Given the description of an element on the screen output the (x, y) to click on. 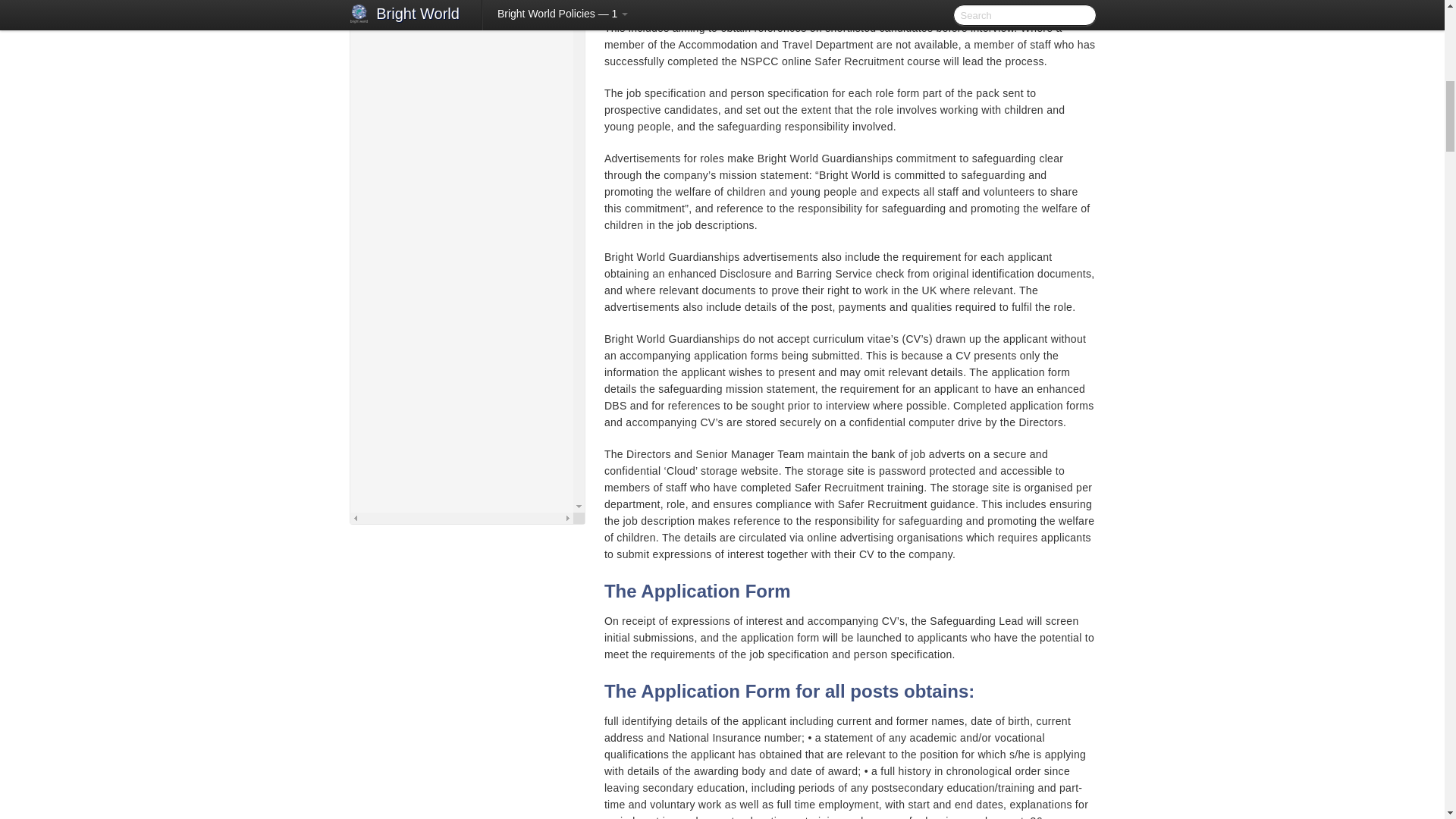
General Policies (460, 106)
Complaints Policy and Procedure (467, 125)
Whistleblowing Policy (467, 72)
Privacy Policy (475, 193)
Data Retention Policy (475, 175)
Welfare Health and Safety Statement (467, 54)
